Given the description of an element on the screen output the (x, y) to click on. 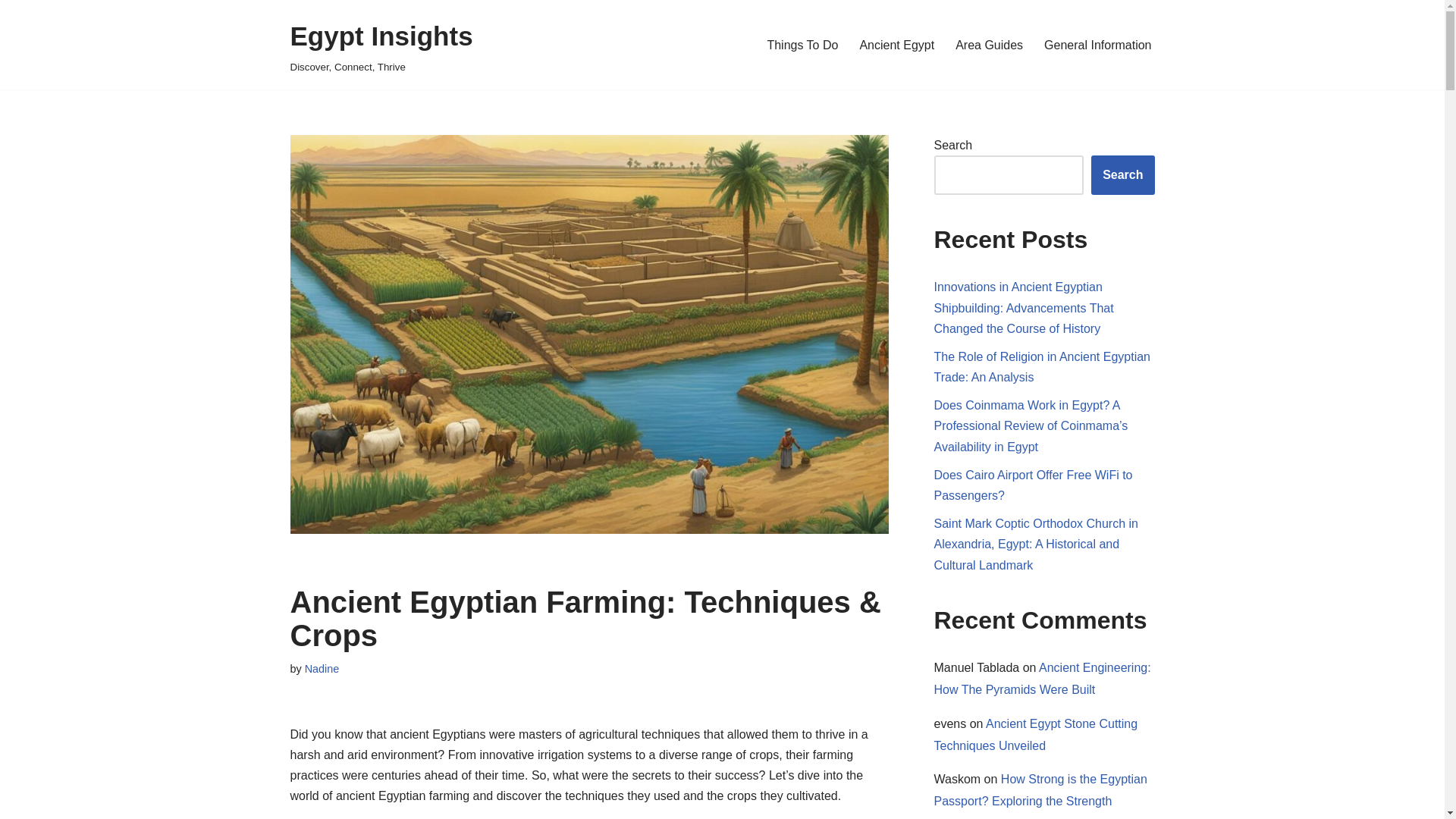
Skip to content (11, 31)
Area Guides (989, 45)
Posts by Nadine (321, 668)
Nadine (321, 668)
General Information (1097, 45)
Search (1122, 174)
Things To Do (802, 45)
Ancient Egypt (896, 45)
